Given the description of an element on the screen output the (x, y) to click on. 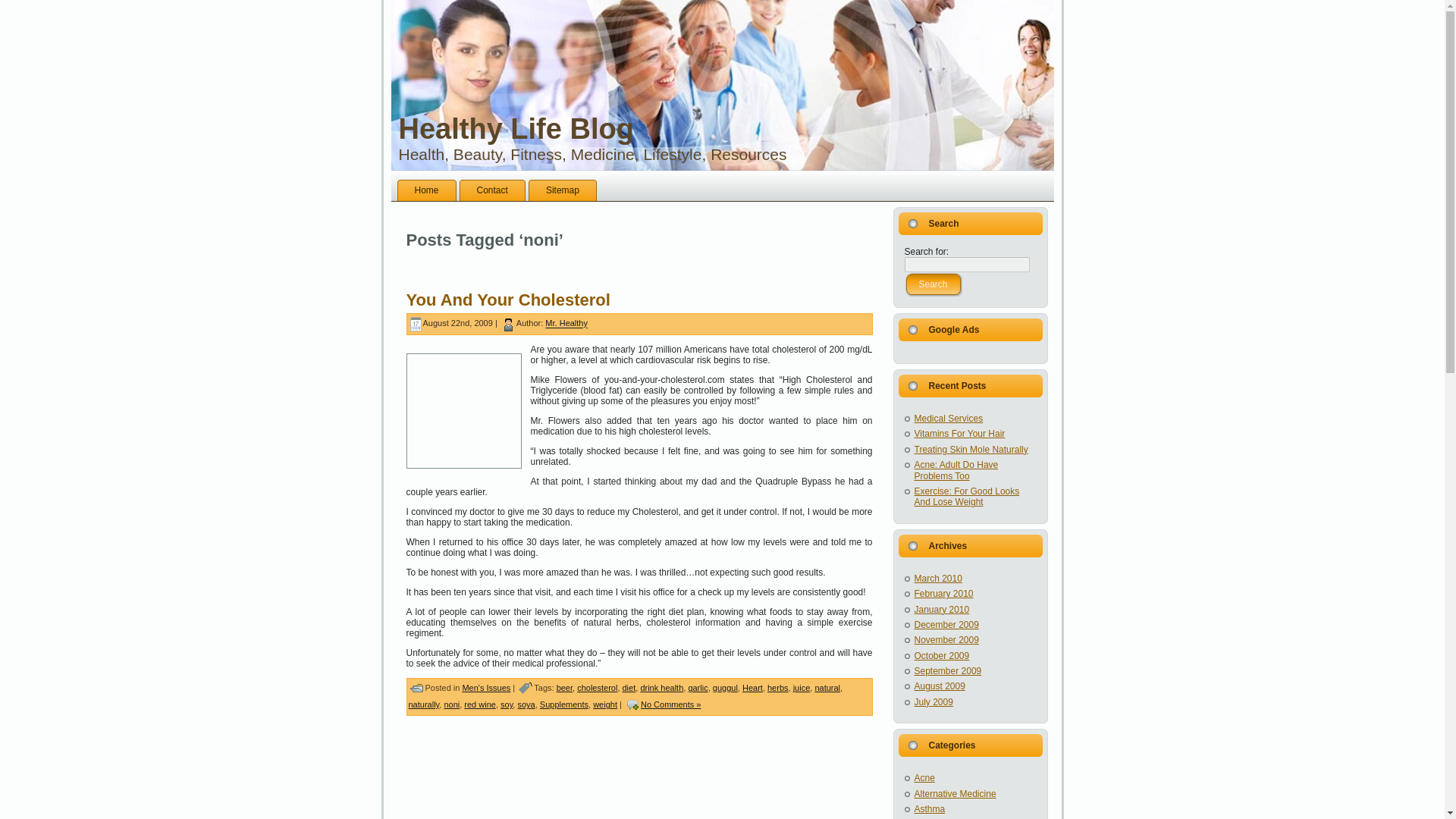
soya (525, 704)
Mr. Healthy (566, 323)
drink health (661, 687)
herbs (778, 687)
Men's Issues (486, 687)
August 2009 (939, 685)
diet (627, 687)
guggul (725, 687)
Contact (492, 190)
noni (452, 704)
Treating Skin Mole Naturally (970, 449)
beer (564, 687)
January 2010 (941, 609)
Supplements (564, 704)
Acne: Adult Do Have Problems Too (956, 469)
